Given the description of an element on the screen output the (x, y) to click on. 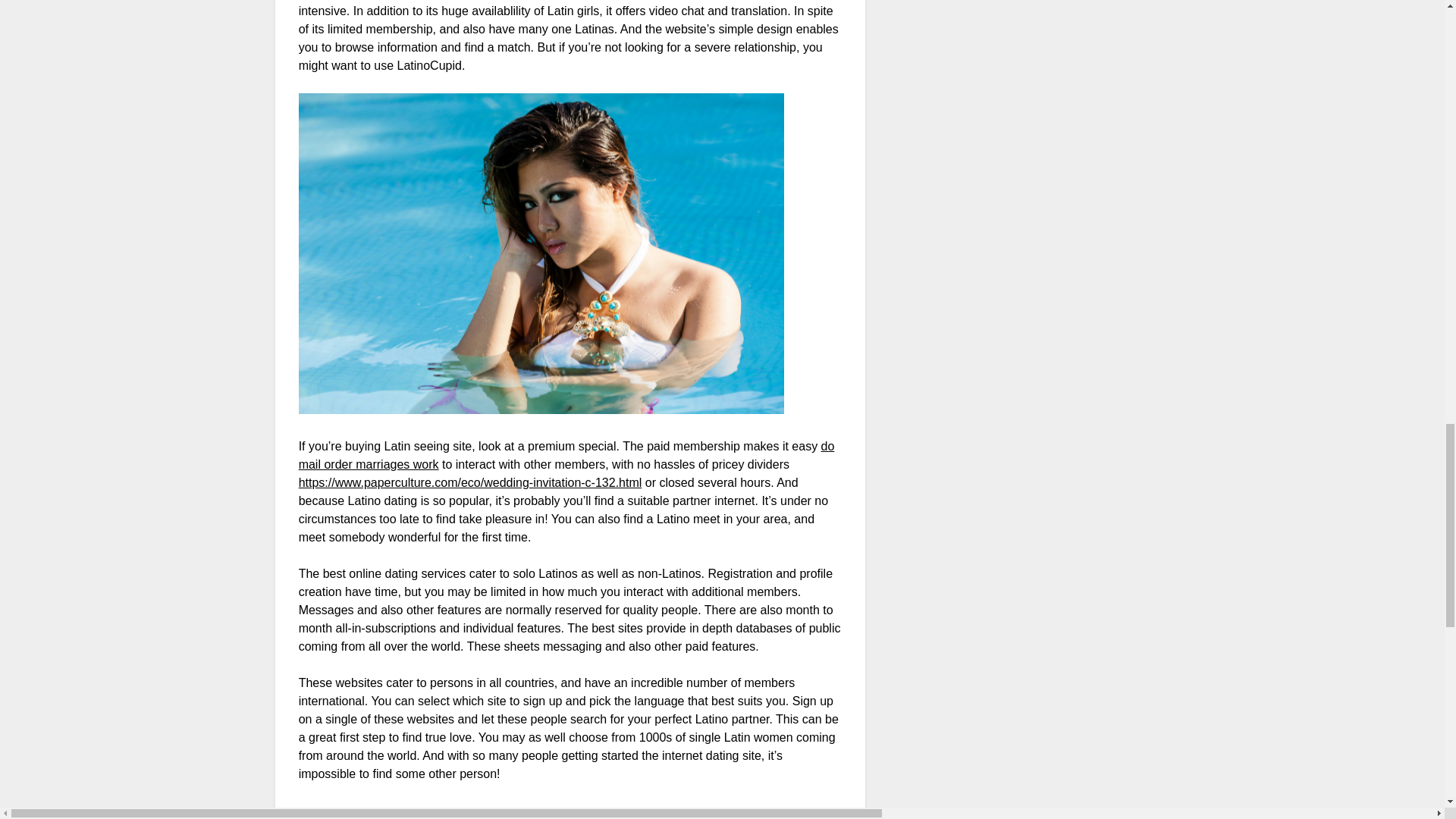
Uncategorized (347, 816)
do mail order marriages work (566, 454)
